Given the description of an element on the screen output the (x, y) to click on. 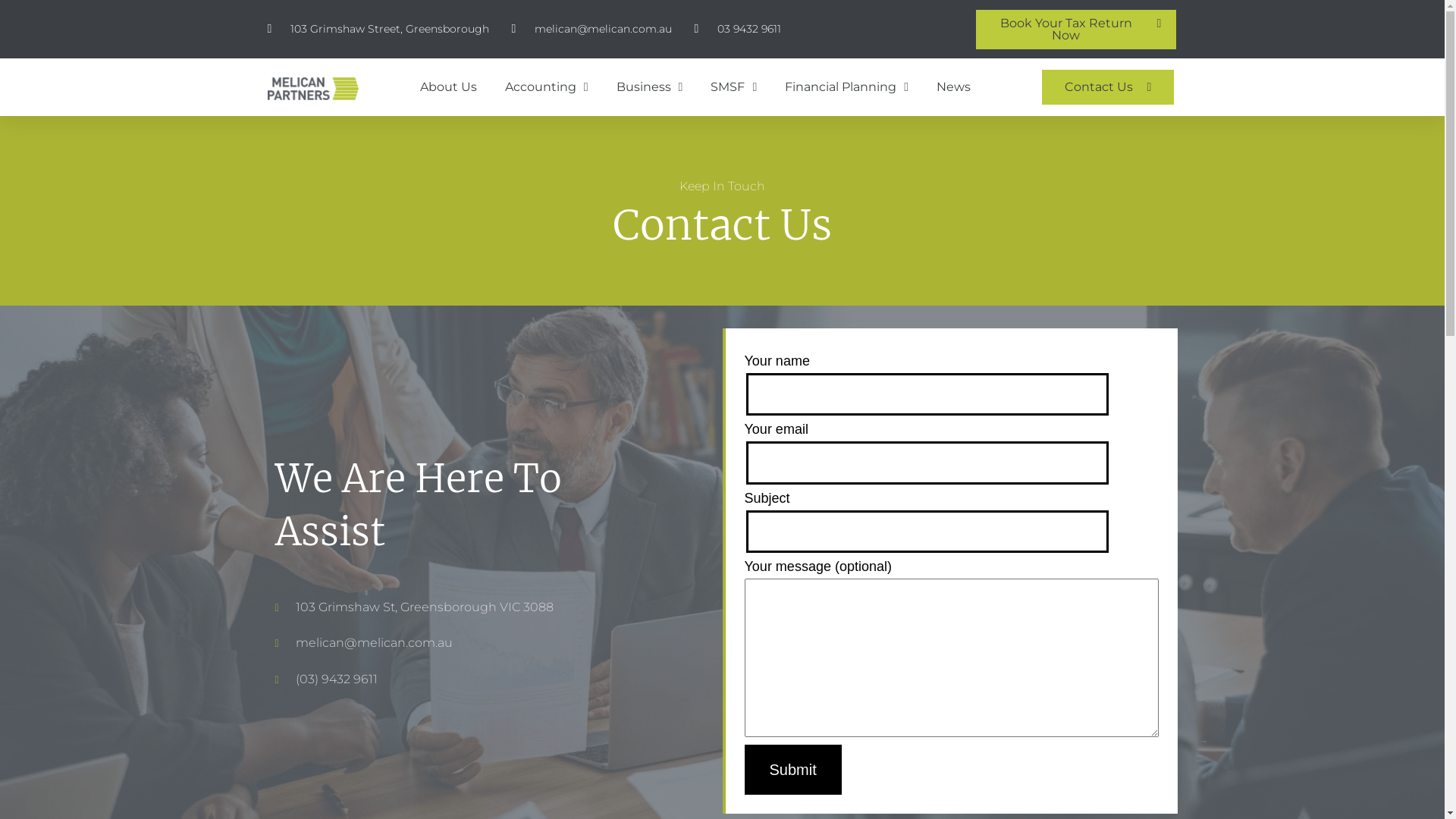
melican@melican.com.au Element type: text (591, 29)
Submit Element type: text (792, 769)
Contact Us Element type: text (1107, 86)
(03) 9432 9611 Element type: text (460, 678)
03 9432 9611 Element type: text (737, 29)
melican@melican.com.au Element type: text (460, 642)
Book Your Tax Return Now Element type: text (1075, 29)
About Us Element type: text (448, 86)
Accounting Element type: text (546, 86)
Financial Planning Element type: text (846, 86)
SMSF Element type: text (733, 86)
News Element type: text (953, 86)
Business Element type: text (649, 86)
